Given the description of an element on the screen output the (x, y) to click on. 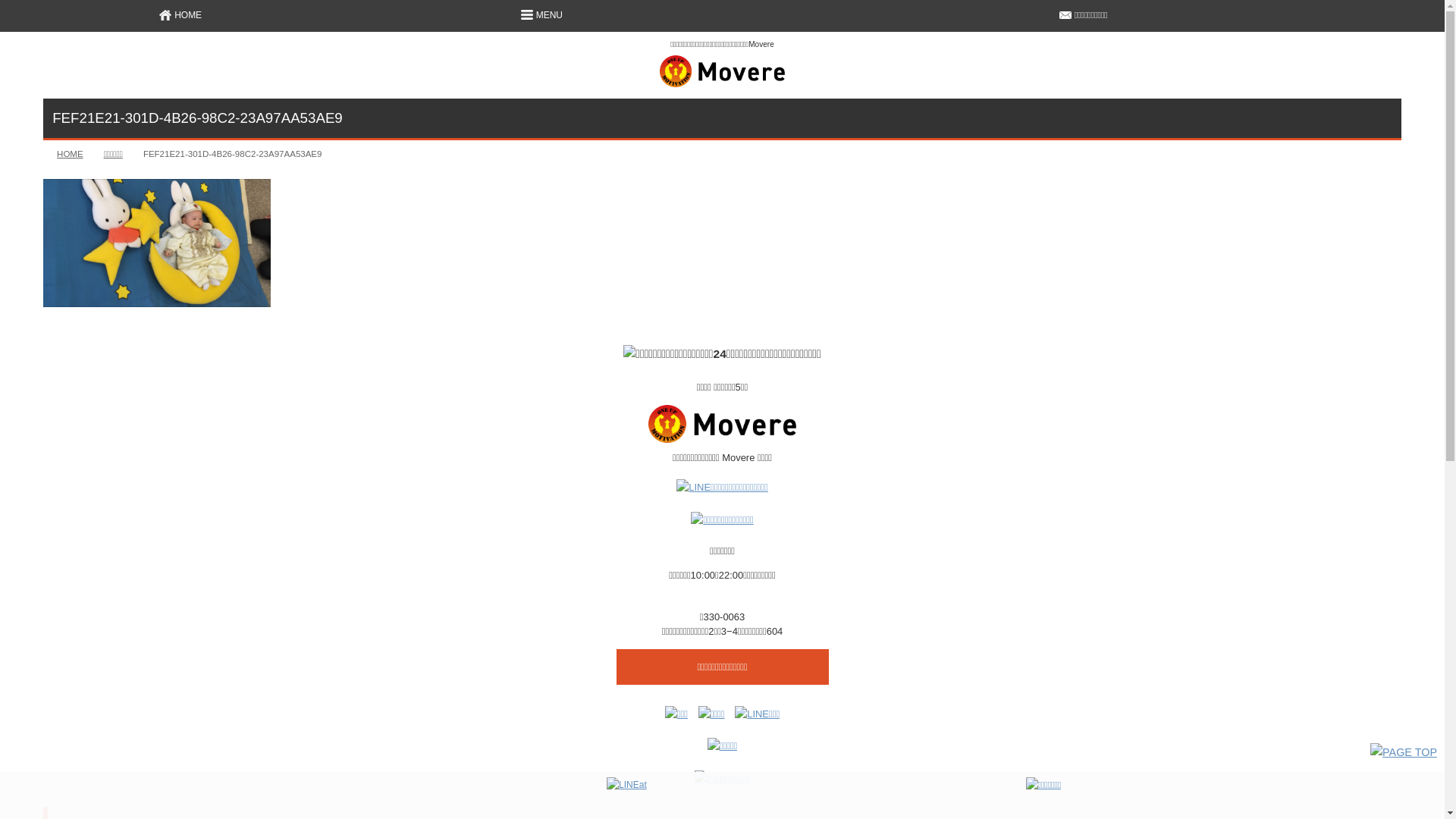
HOME Element type: text (180, 15)
PAGE TOP Element type: hover (1403, 752)
HOME Element type: text (69, 153)
